Given the description of an element on the screen output the (x, y) to click on. 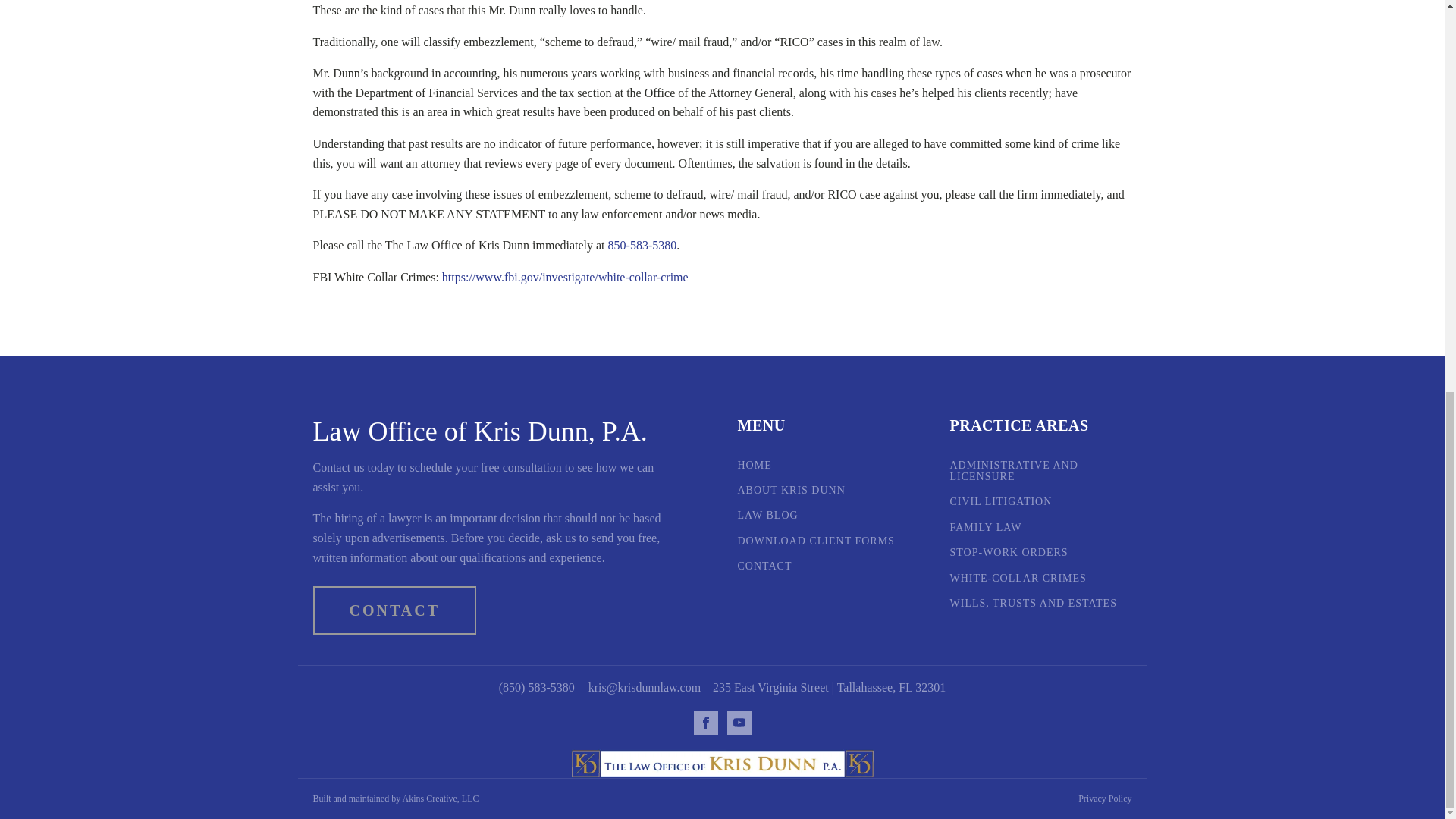
DOWNLOAD CLIENT FORMS (814, 541)
ABOUT KRIS DUNN (790, 490)
Built and maintained by Akins Creative, LLC (396, 798)
LAW BLOG (766, 514)
WILLS, TRUSTS AND ESTATES (1032, 603)
WHITE-COLLAR CRIMES (1017, 577)
ADMINISTRATIVE AND LICENSURE (1040, 471)
CONTACT (764, 565)
CIVIL LITIGATION (1000, 501)
Privacy Policy (1104, 798)
